Given the description of an element on the screen output the (x, y) to click on. 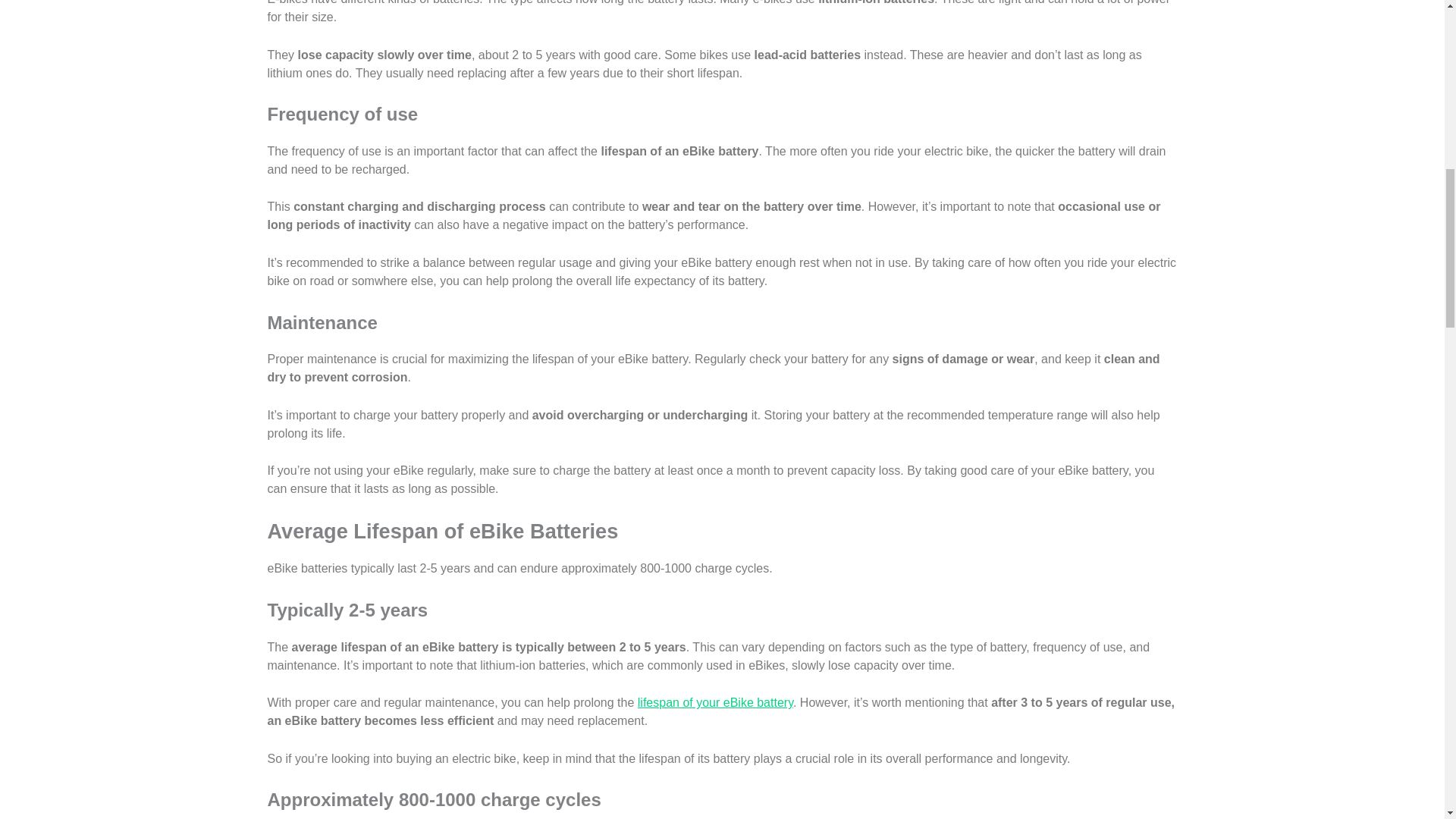
lifespan of your eBike battery (715, 702)
